Given the description of an element on the screen output the (x, y) to click on. 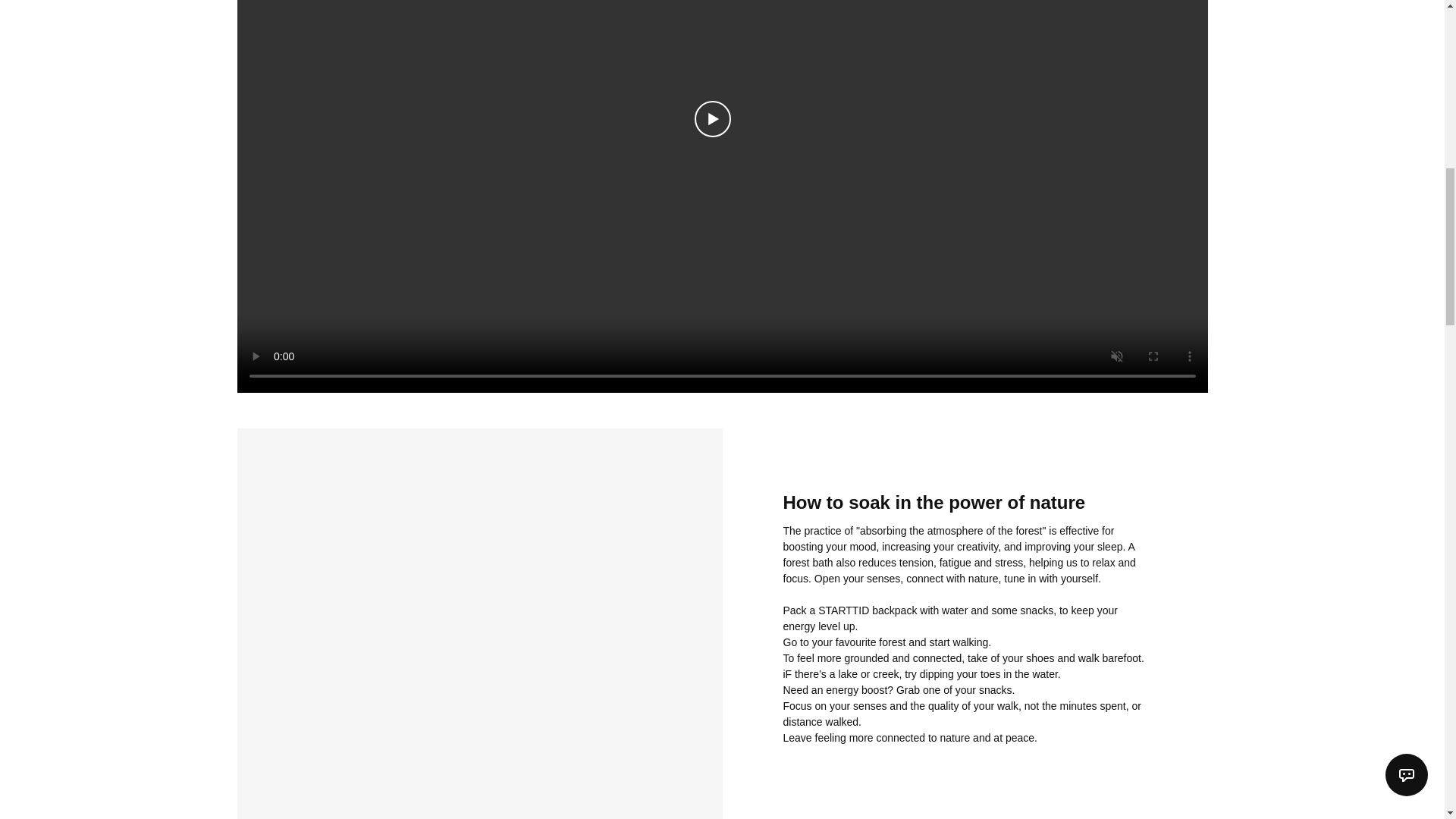
STARTTID backpack (867, 610)
